Given the description of an element on the screen output the (x, y) to click on. 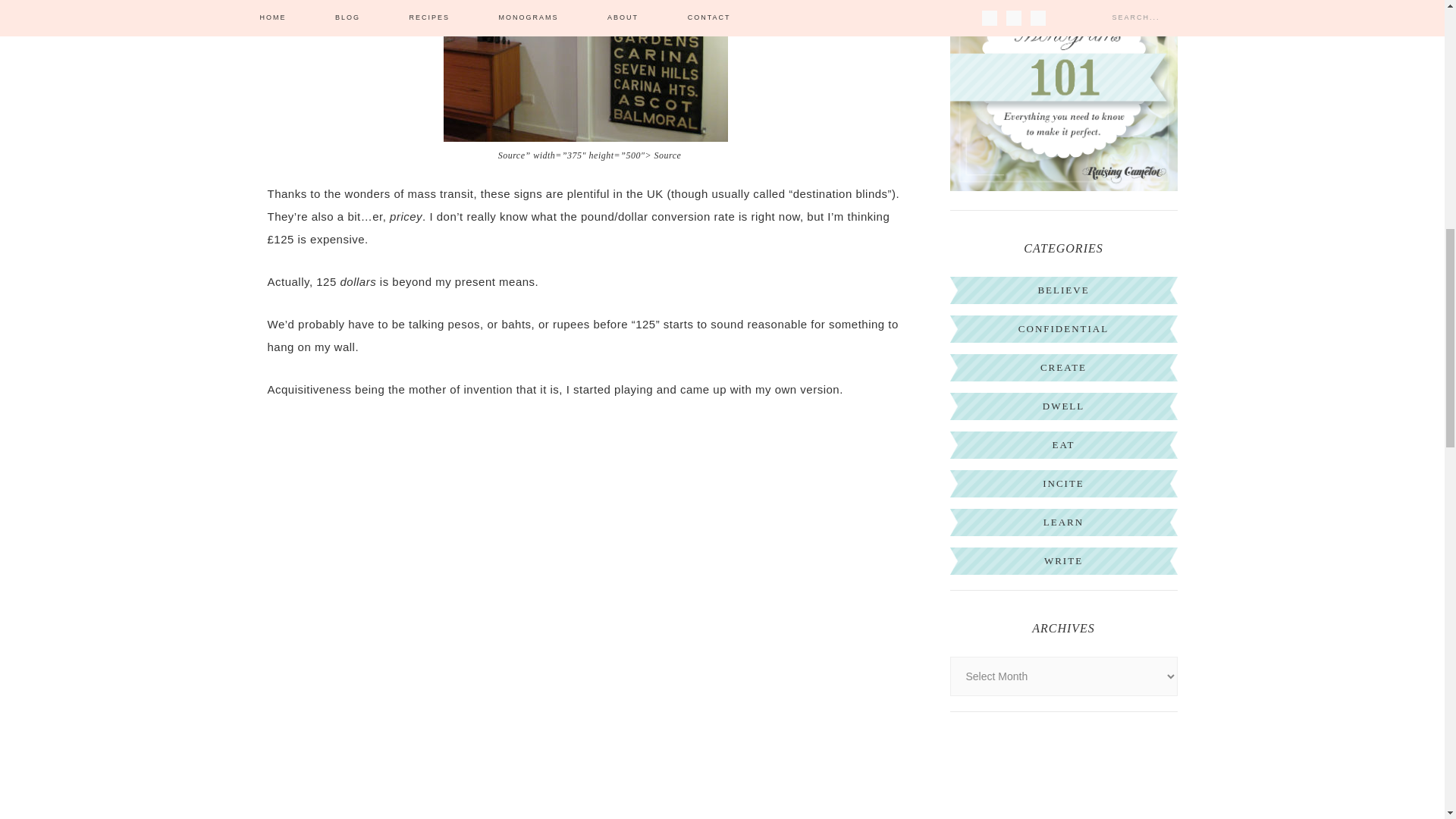
Source (667, 154)
